Given the description of an element on the screen output the (x, y) to click on. 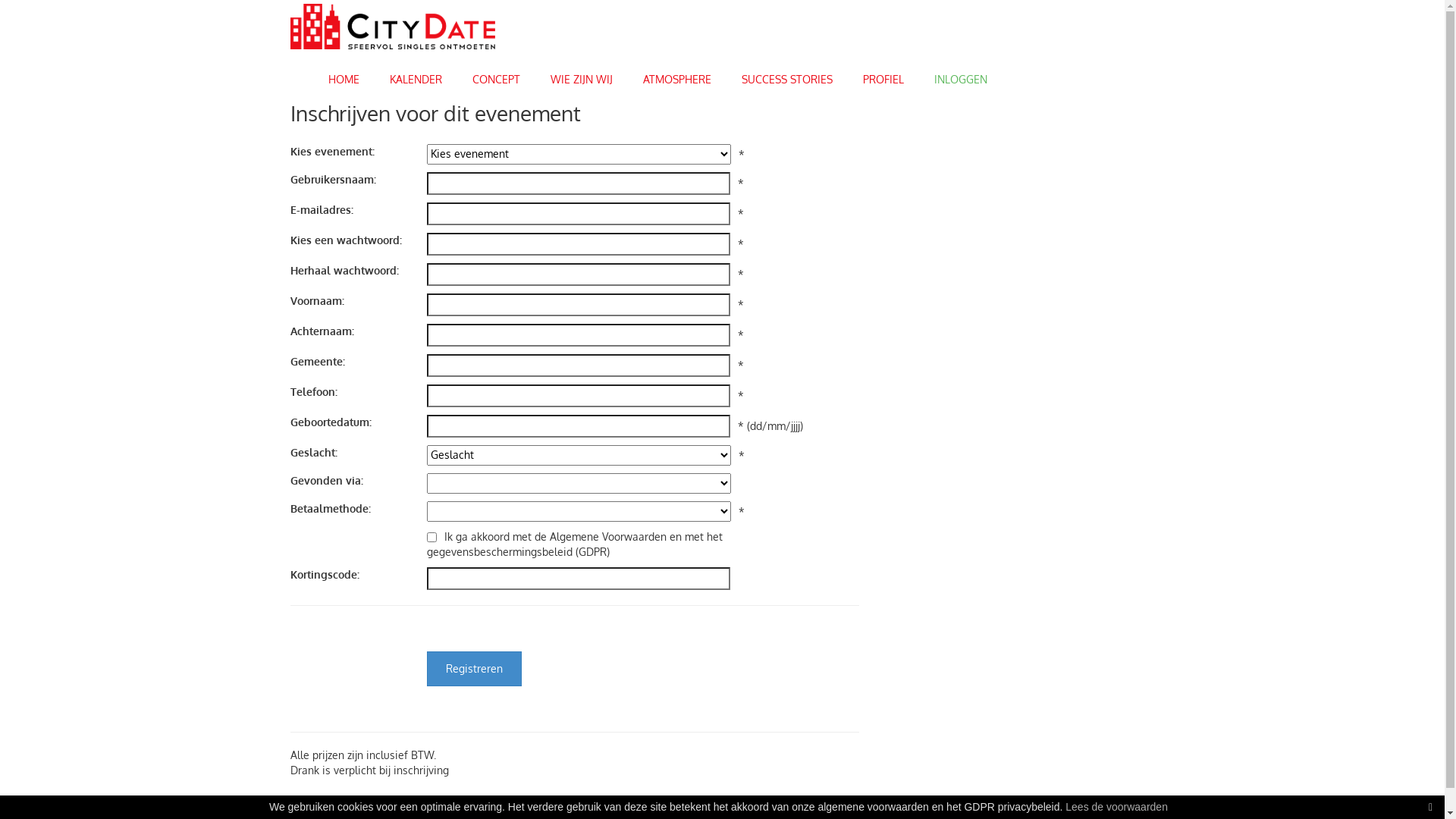
ATMOSPHERE Element type: text (677, 74)
PROFIEL Element type: text (882, 74)
Ik ga akkoord met de Algemene Voorwaarden Element type: text (555, 536)
WIE ZIJN WIJ Element type: text (581, 74)
gegevensbeschermingsbeleid (GDPR) Element type: text (517, 551)
Home Element type: hover (391, 24)
SUCCESS STORIES Element type: text (786, 74)
Lees de voorwaarden Element type: text (1116, 806)
KALENDER Element type: text (415, 74)
CONCEPT Element type: text (495, 74)
HOME Element type: text (342, 74)
Registreren Element type: text (473, 668)
INLOGGEN Element type: text (960, 74)
